Given the description of an element on the screen output the (x, y) to click on. 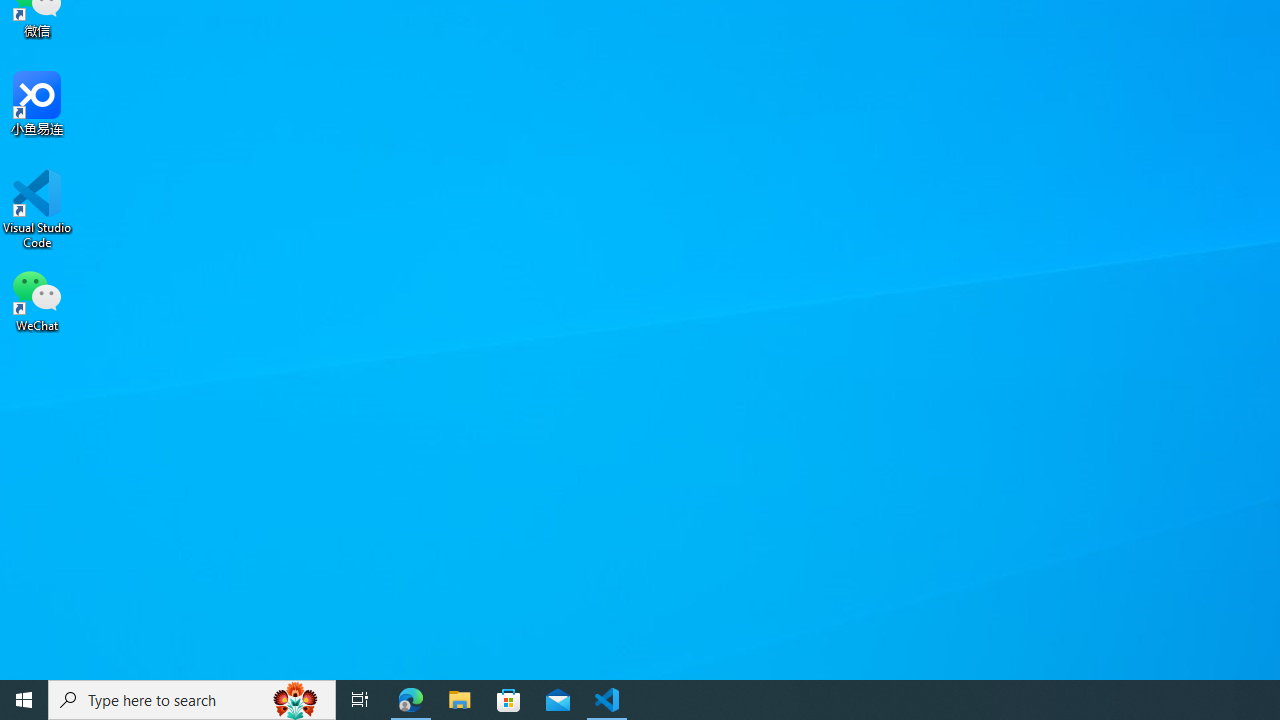
WeChat (37, 299)
Visual Studio Code (37, 209)
Start (24, 699)
Search highlights icon opens search home window (295, 699)
Microsoft Edge - 1 running window (411, 699)
File Explorer (460, 699)
Microsoft Store (509, 699)
Visual Studio Code - 1 running window (607, 699)
Task View (359, 699)
Type here to search (191, 699)
